Given the description of an element on the screen output the (x, y) to click on. 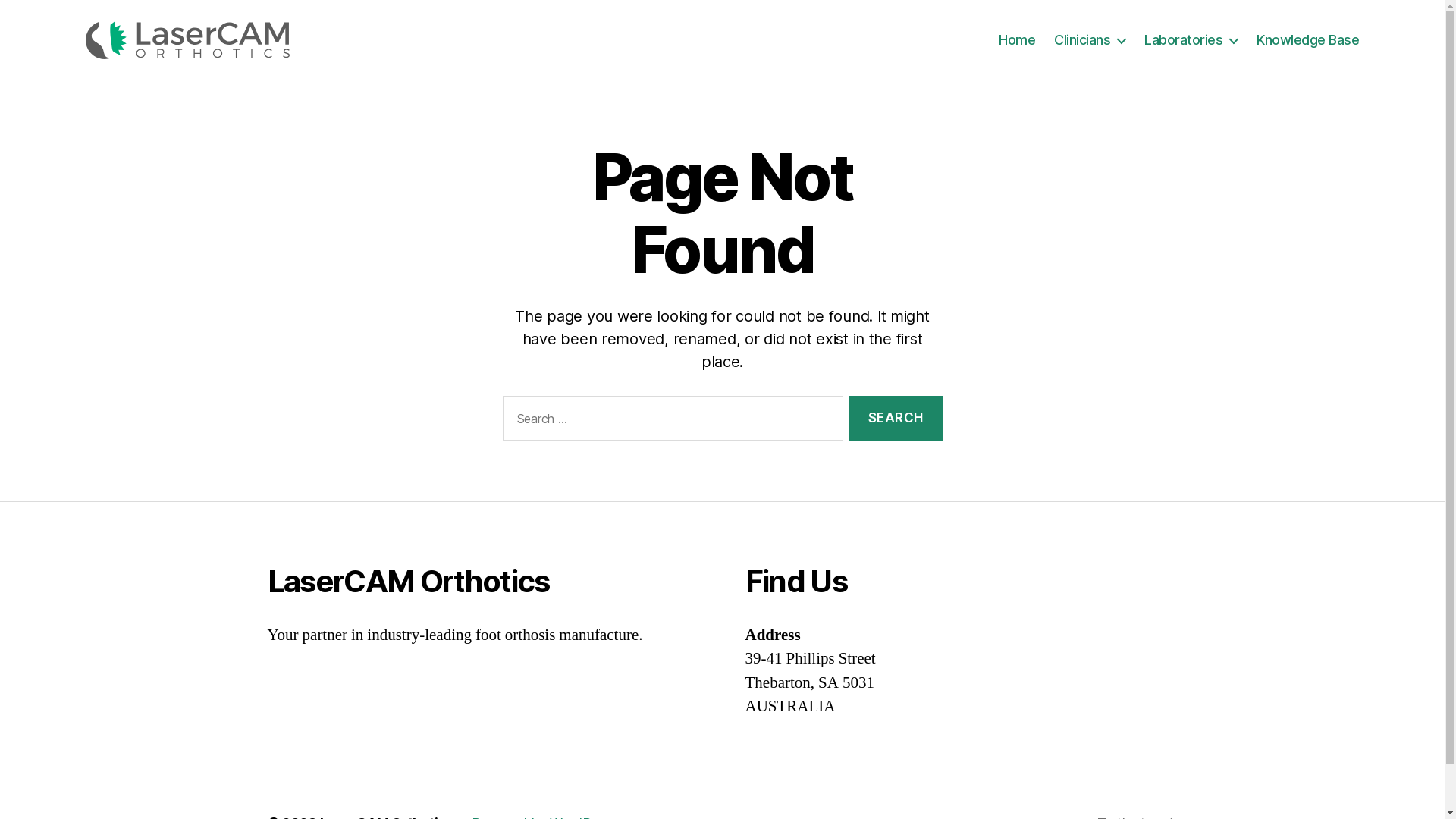
Home Element type: text (1016, 39)
Knowledge Base Element type: text (1307, 39)
Laboratories Element type: text (1190, 39)
Clinicians Element type: text (1089, 39)
Search Element type: text (895, 417)
